Given the description of an element on the screen output the (x, y) to click on. 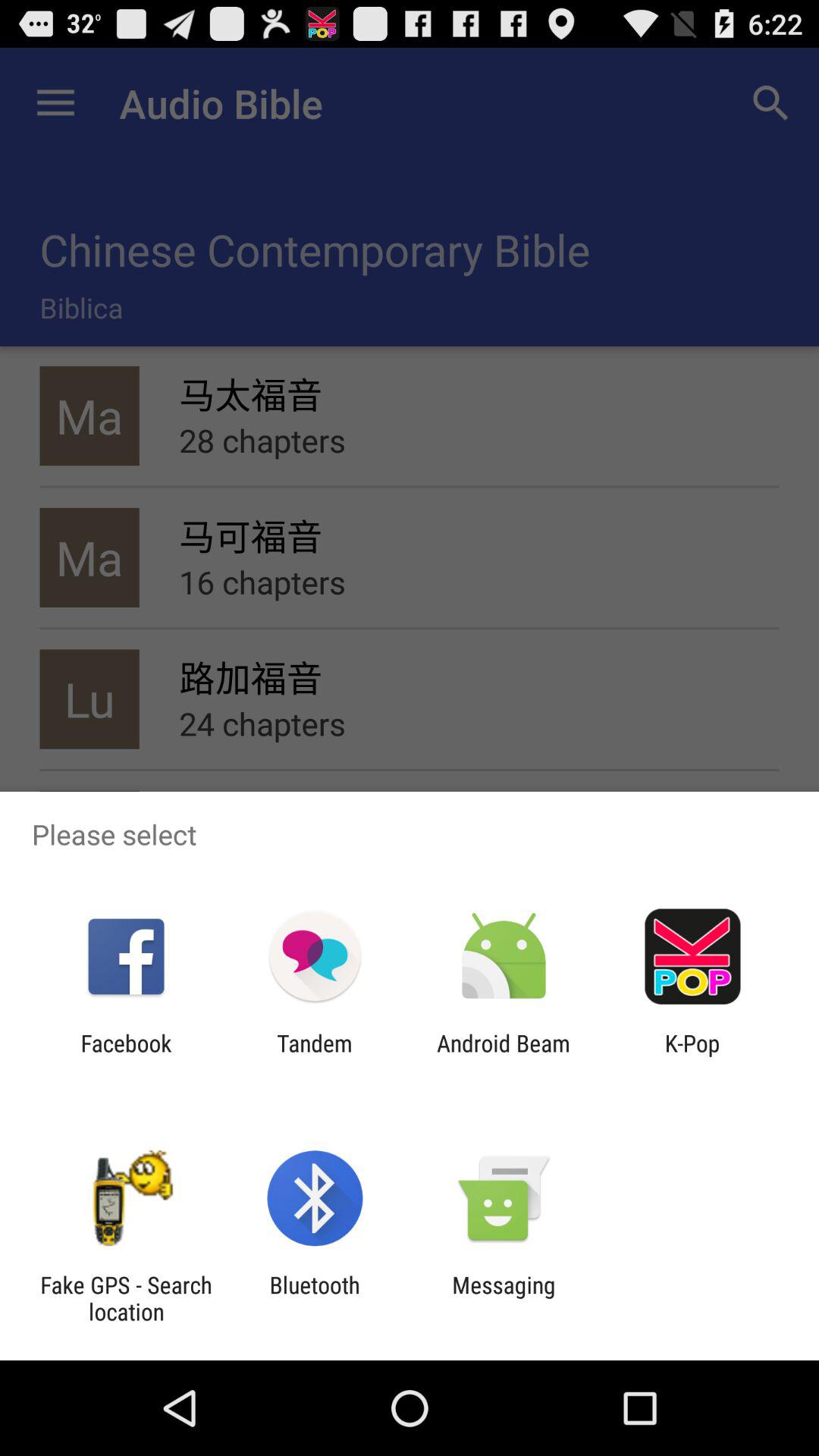
turn on fake gps search app (125, 1298)
